Given the description of an element on the screen output the (x, y) to click on. 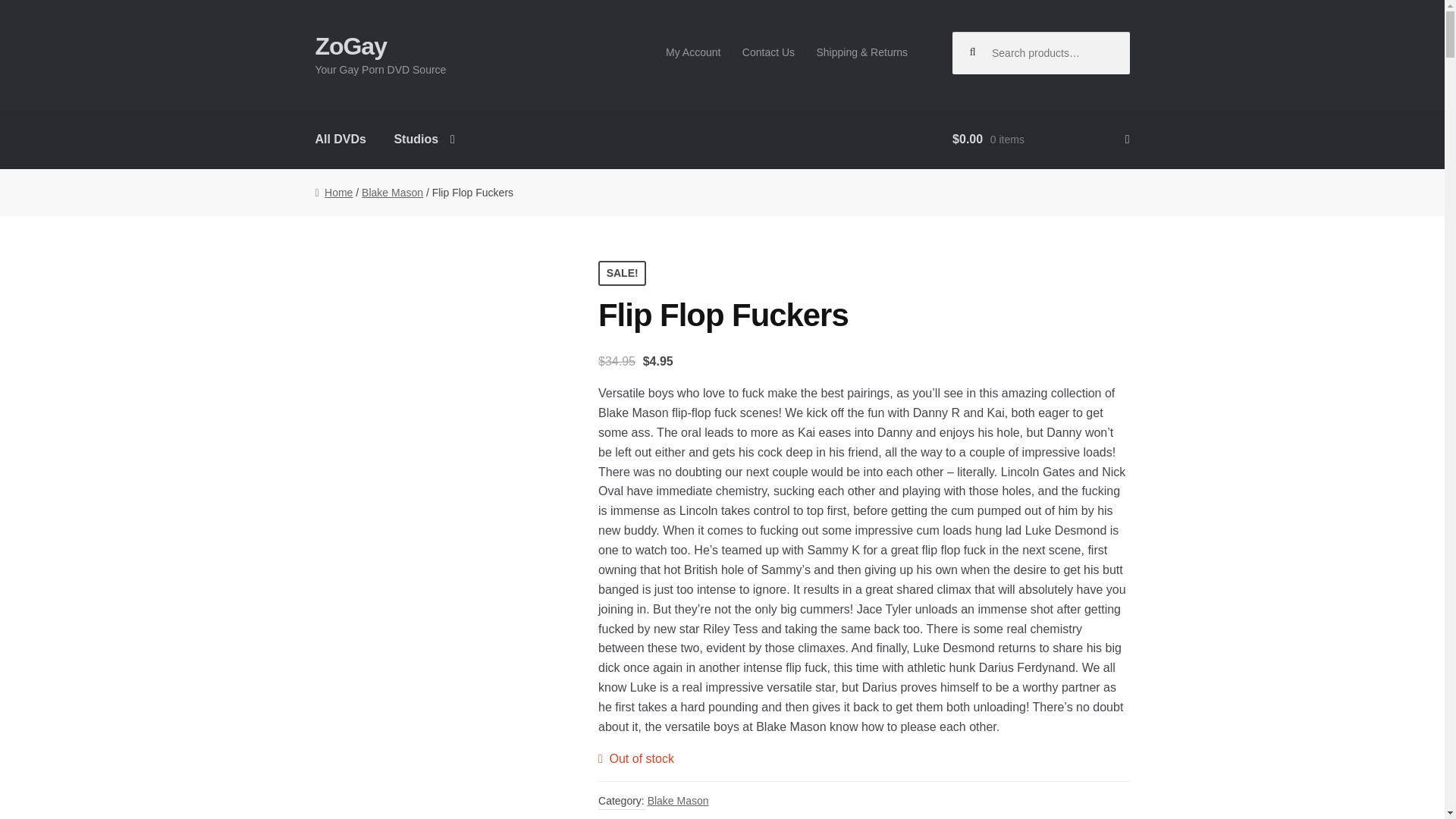
Studios (424, 138)
Home (333, 192)
All DVDs (340, 138)
Skip to content (358, 41)
Contact Us (769, 51)
Blake Mason (392, 192)
Search (987, 49)
My Account (693, 51)
ZoGay (350, 45)
Search (987, 49)
